Given the description of an element on the screen output the (x, y) to click on. 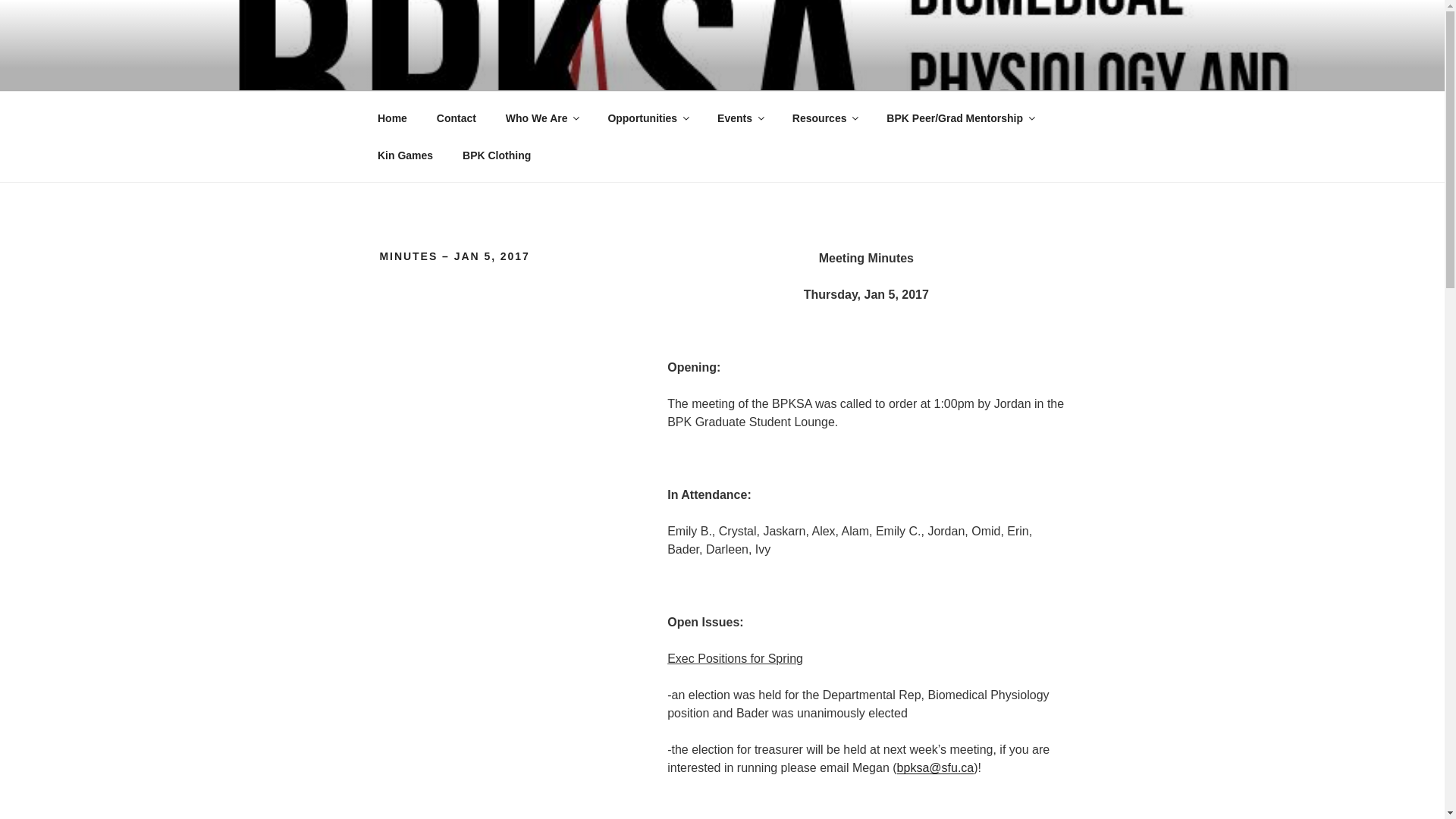
Contact (456, 118)
Who We Are (541, 118)
Home (392, 118)
Events (740, 118)
Opportunities (647, 118)
Resources (824, 118)
